Given the description of an element on the screen output the (x, y) to click on. 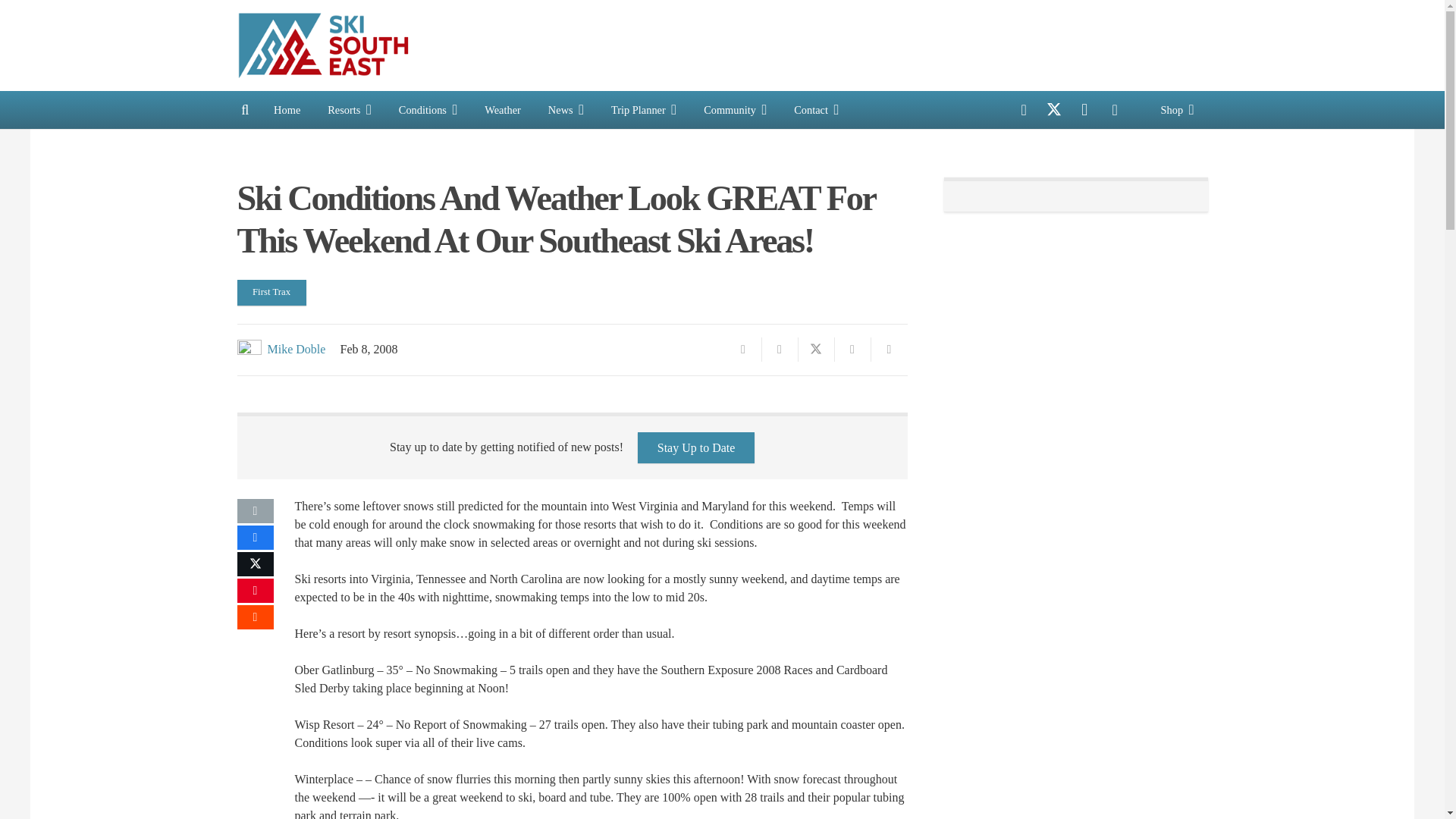
Share this (779, 349)
Instagram (1083, 110)
Email this (254, 510)
Email this (743, 349)
Pin this (254, 590)
Tweet this (254, 564)
Conditions (428, 109)
Share this (254, 537)
Tweet this (815, 349)
Resorts (349, 109)
